Given the description of an element on the screen output the (x, y) to click on. 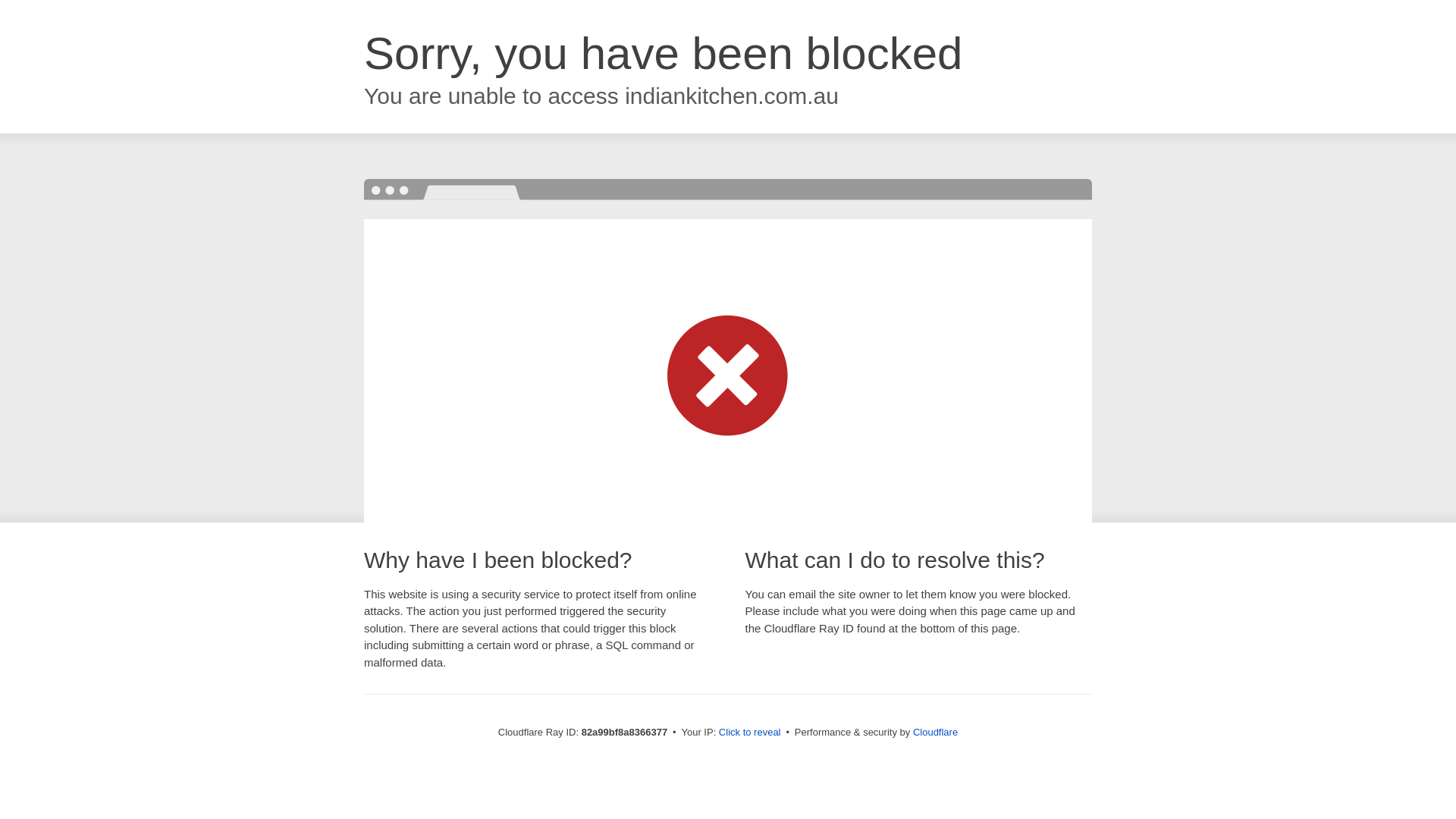
Click to reveal Element type: text (749, 732)
Cloudflare Element type: text (935, 731)
